Given the description of an element on the screen output the (x, y) to click on. 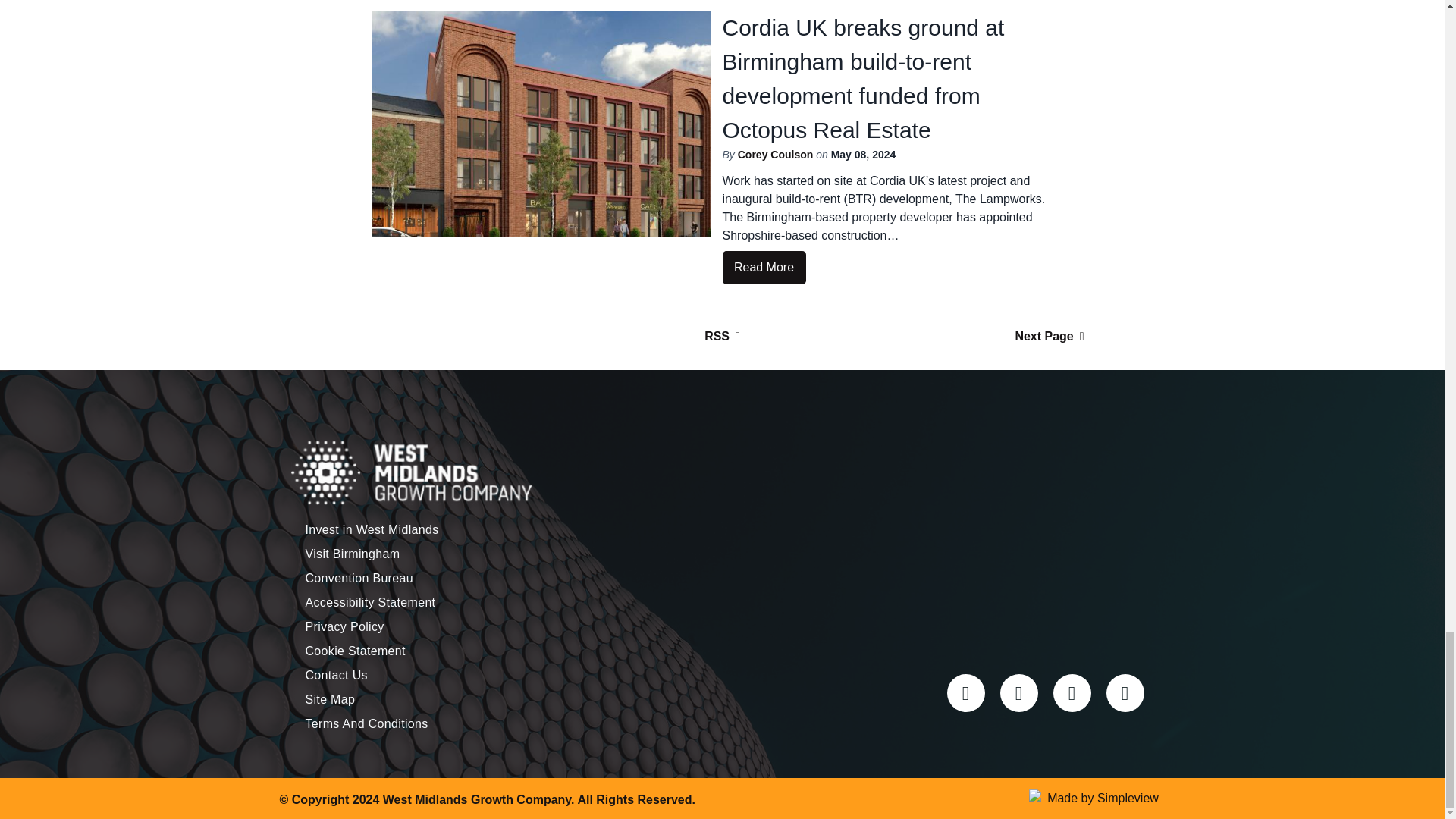
Visit our instagram page (1017, 692)
Site Map (385, 699)
Terms And Conditions (385, 723)
Invest in West Midlands (385, 529)
Convention Bureau (385, 578)
Accessibility Statement (385, 602)
Visit Birmingham (385, 554)
Visit our facebook page (1071, 692)
Cookie Statement (385, 651)
Visit our x page (965, 692)
Contact Us (385, 675)
Privacy Policy (385, 627)
Visit our youtube page (1123, 692)
